Given the description of an element on the screen output the (x, y) to click on. 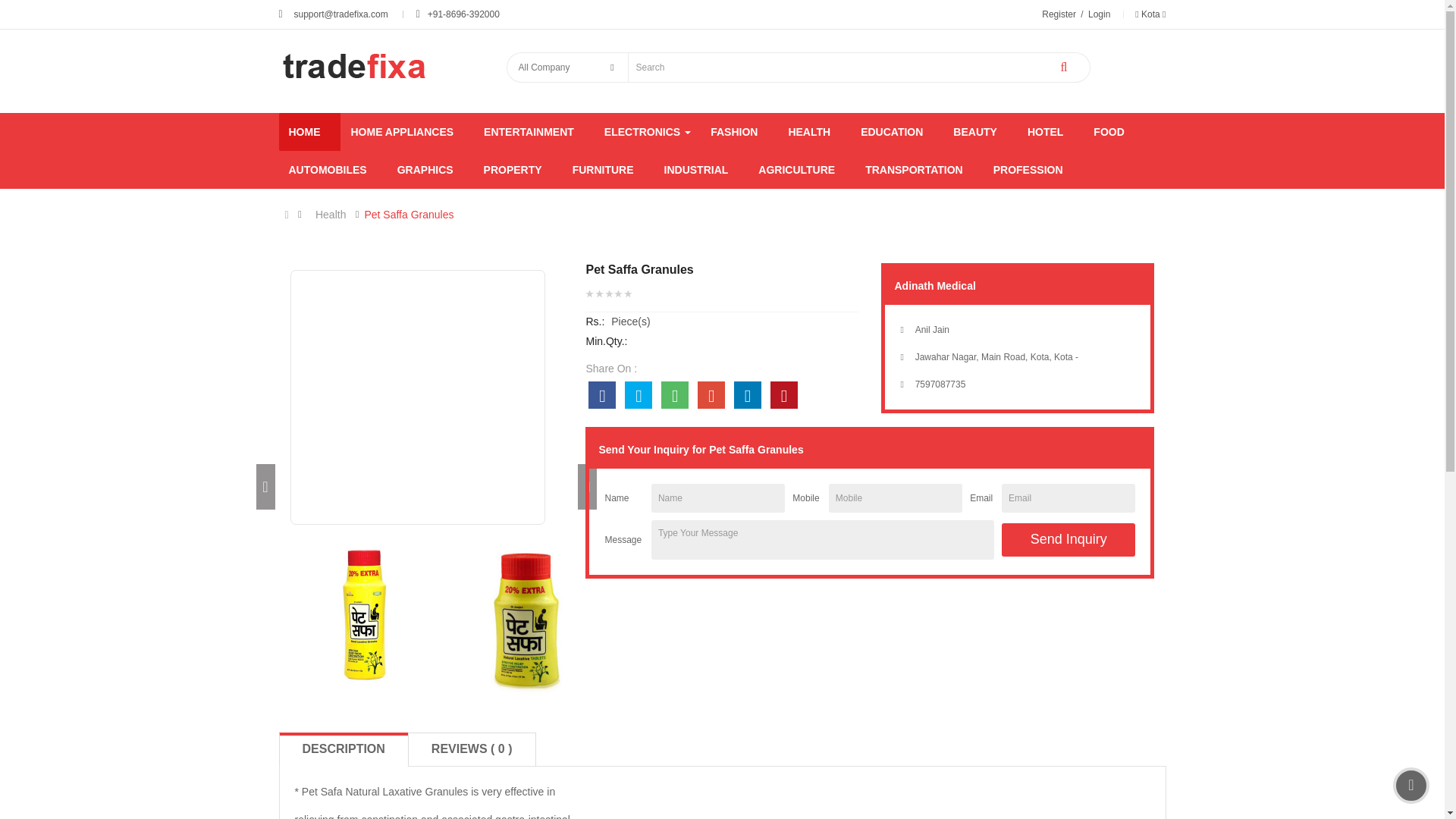
Kota  (1150, 14)
Register (1058, 14)
Send Inquiry (1068, 539)
Login (1099, 14)
